Given the description of an element on the screen output the (x, y) to click on. 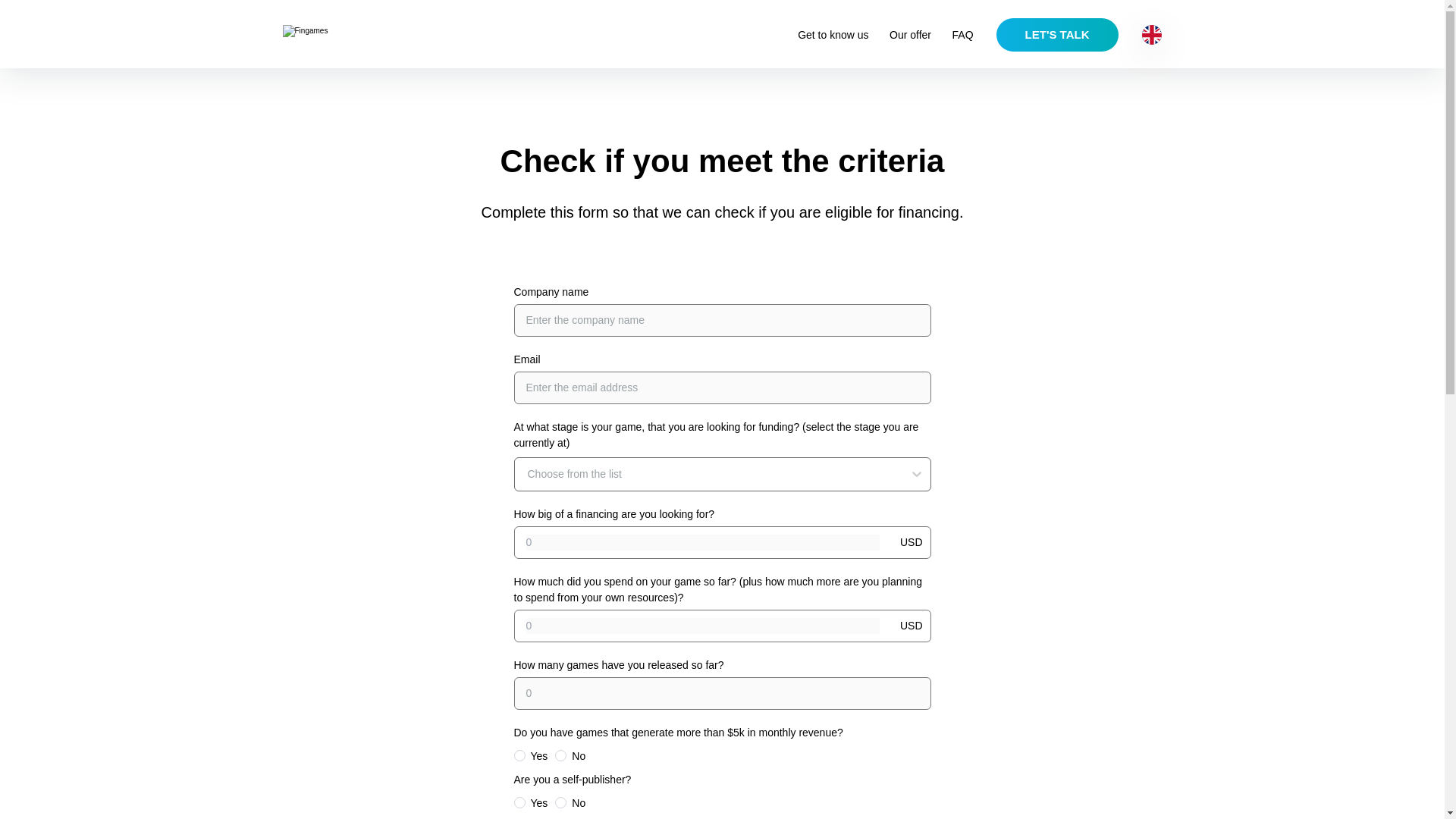
FAQ (963, 34)
true (519, 755)
false (560, 755)
Our offer (910, 34)
Get to know us (979, 34)
false (832, 34)
LET'S TALK (560, 802)
true (1056, 34)
